Given the description of an element on the screen output the (x, y) to click on. 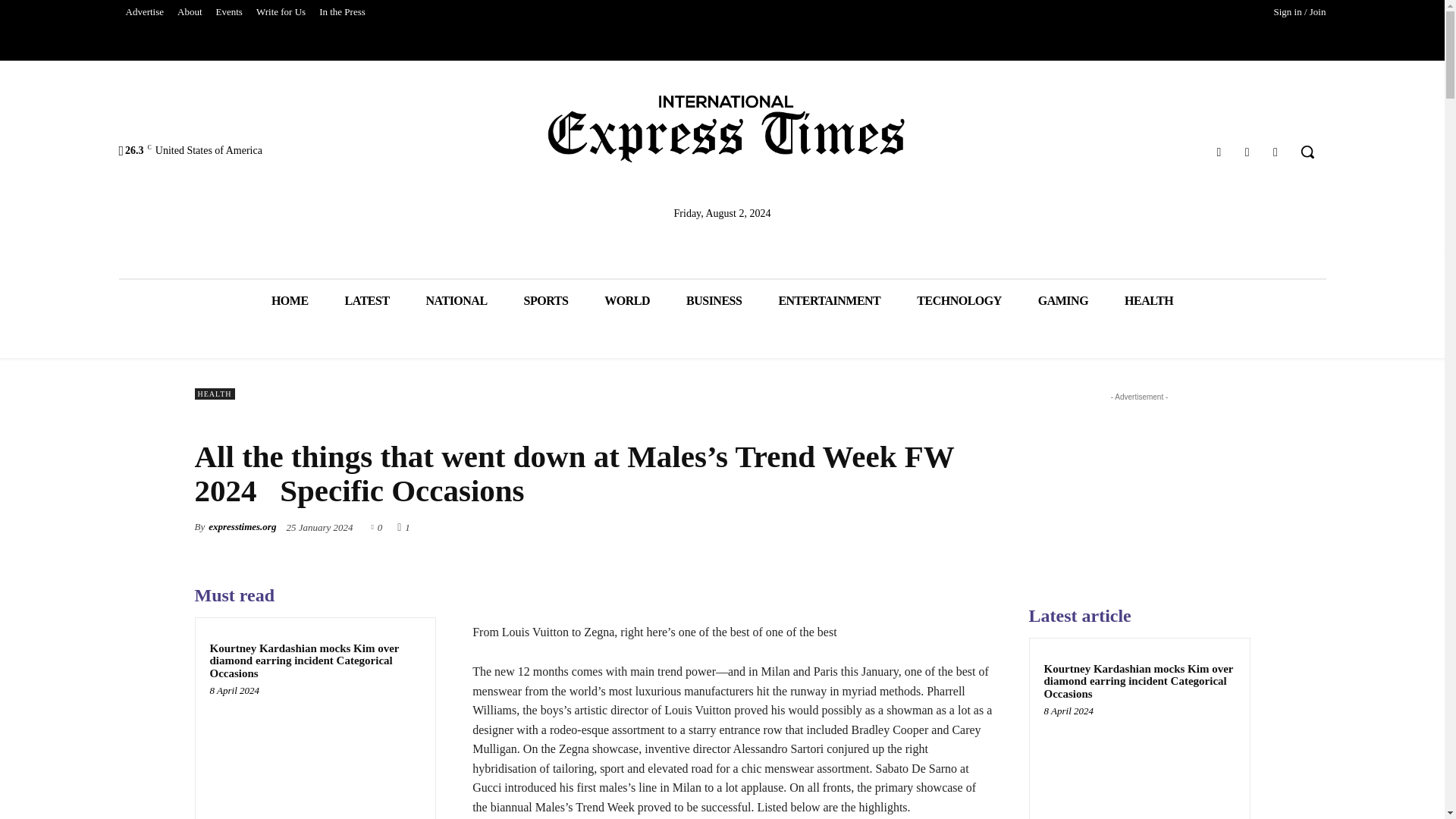
Twitter (1246, 151)
HOME (289, 300)
Youtube (1275, 151)
LATEST (366, 300)
Advertise (143, 12)
About (189, 12)
Events (228, 12)
Write for Us (280, 12)
In the Press (342, 12)
Facebook (1218, 151)
